Given the description of an element on the screen output the (x, y) to click on. 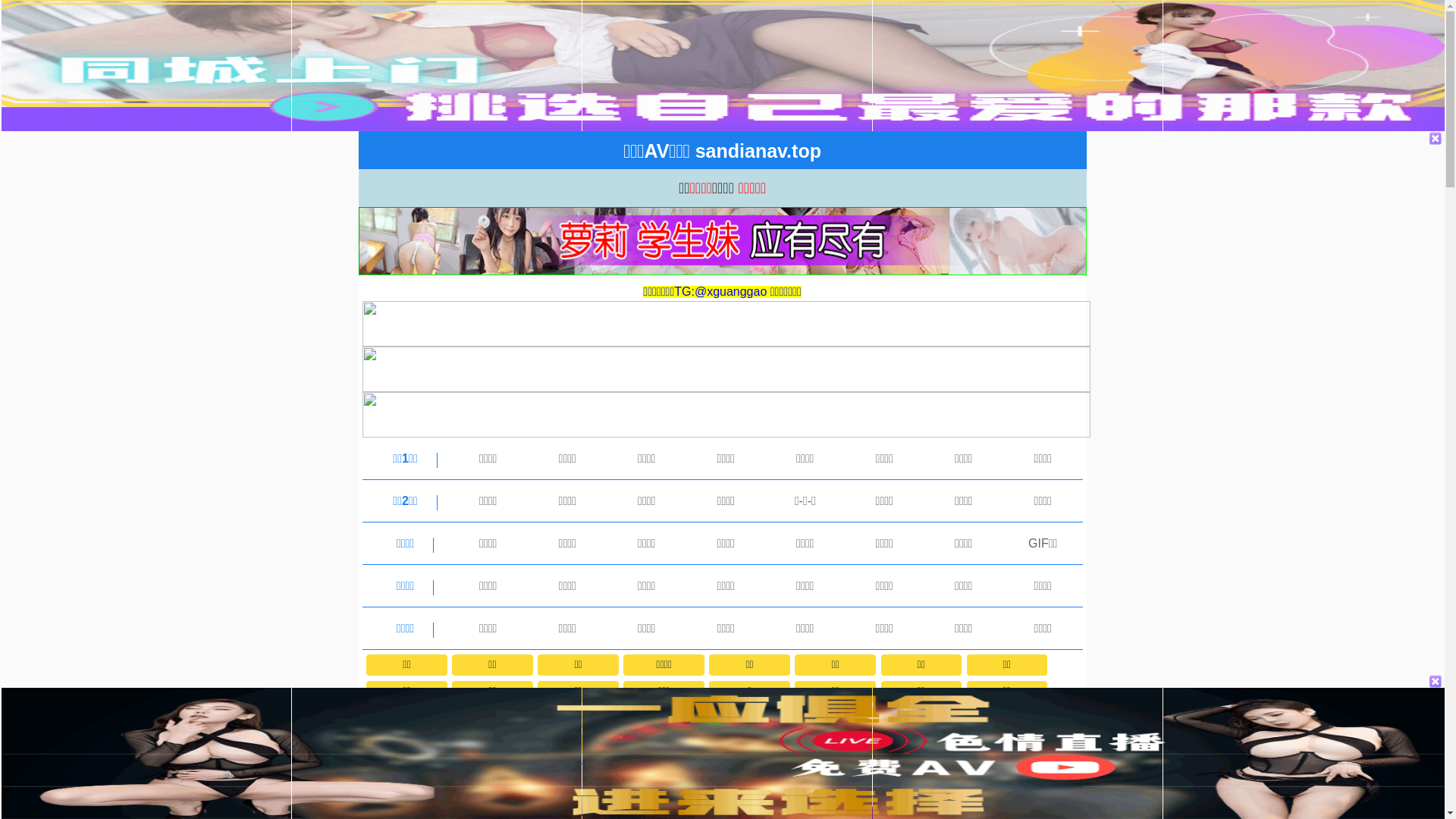
G Element type: text (663, 717)
